Given the description of an element on the screen output the (x, y) to click on. 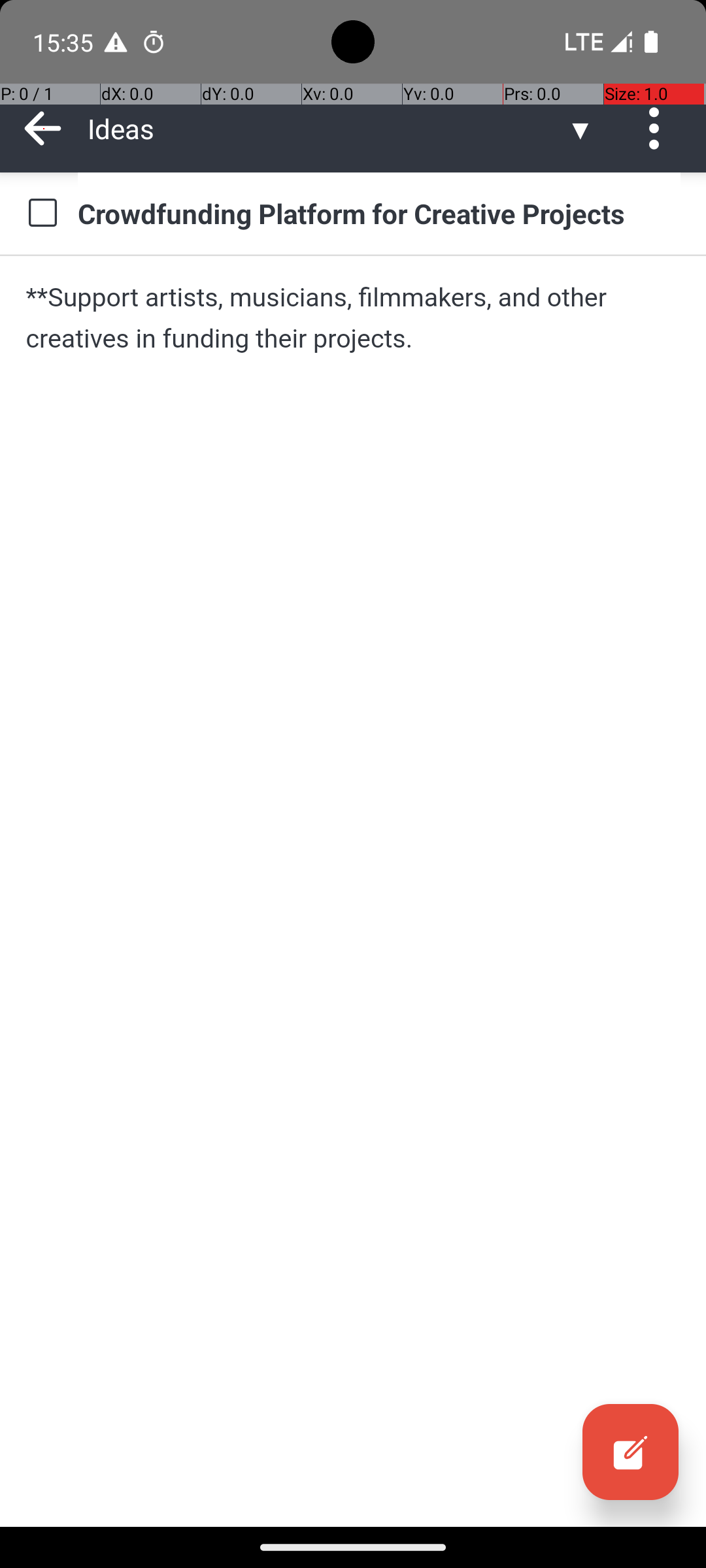
Crowdfunding Platform for Creative Projects Element type: android.widget.EditText (378, 213)
**Support artists, musicians, filmmakers, and other creatives in funding their projects. Element type: android.widget.TextView (352, 317)
